Given the description of an element on the screen output the (x, y) to click on. 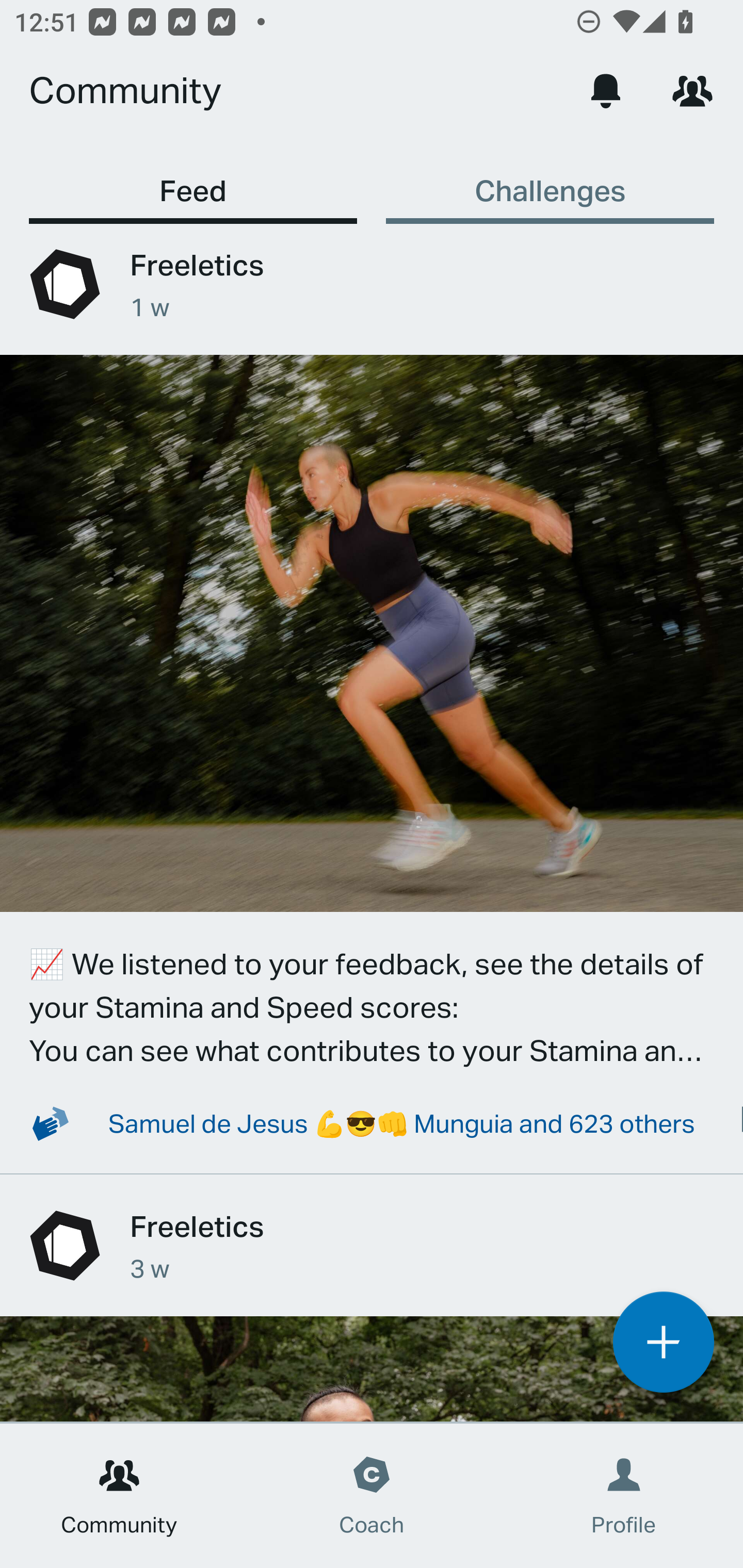
Notifications (605, 90)
Network (692, 90)
Feed (192, 180)
Challenges (549, 180)
Samuel de Jesus 💪😎👊 Munguia and 623 others (351, 1122)
Coach (371, 1495)
Profile (624, 1495)
